Given the description of an element on the screen output the (x, y) to click on. 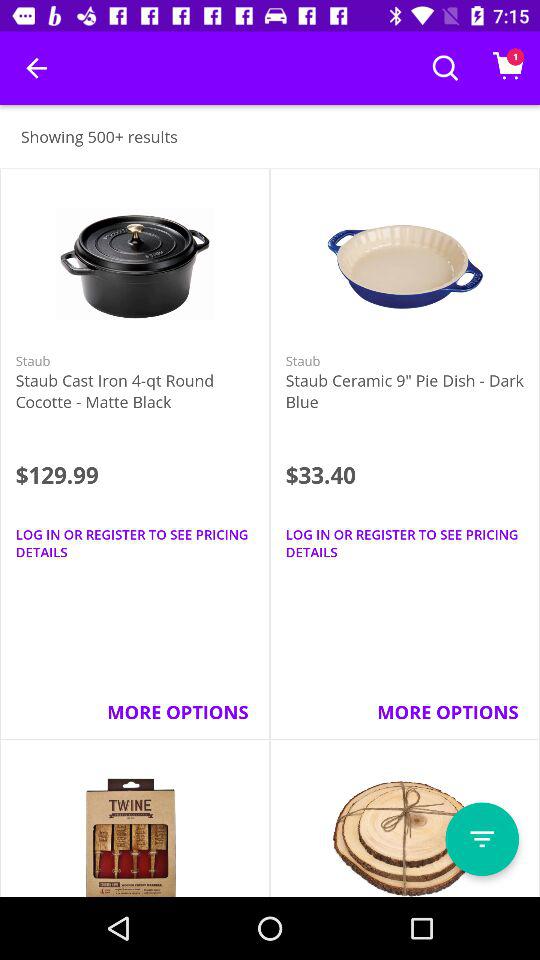
contact support (482, 839)
